Given the description of an element on the screen output the (x, y) to click on. 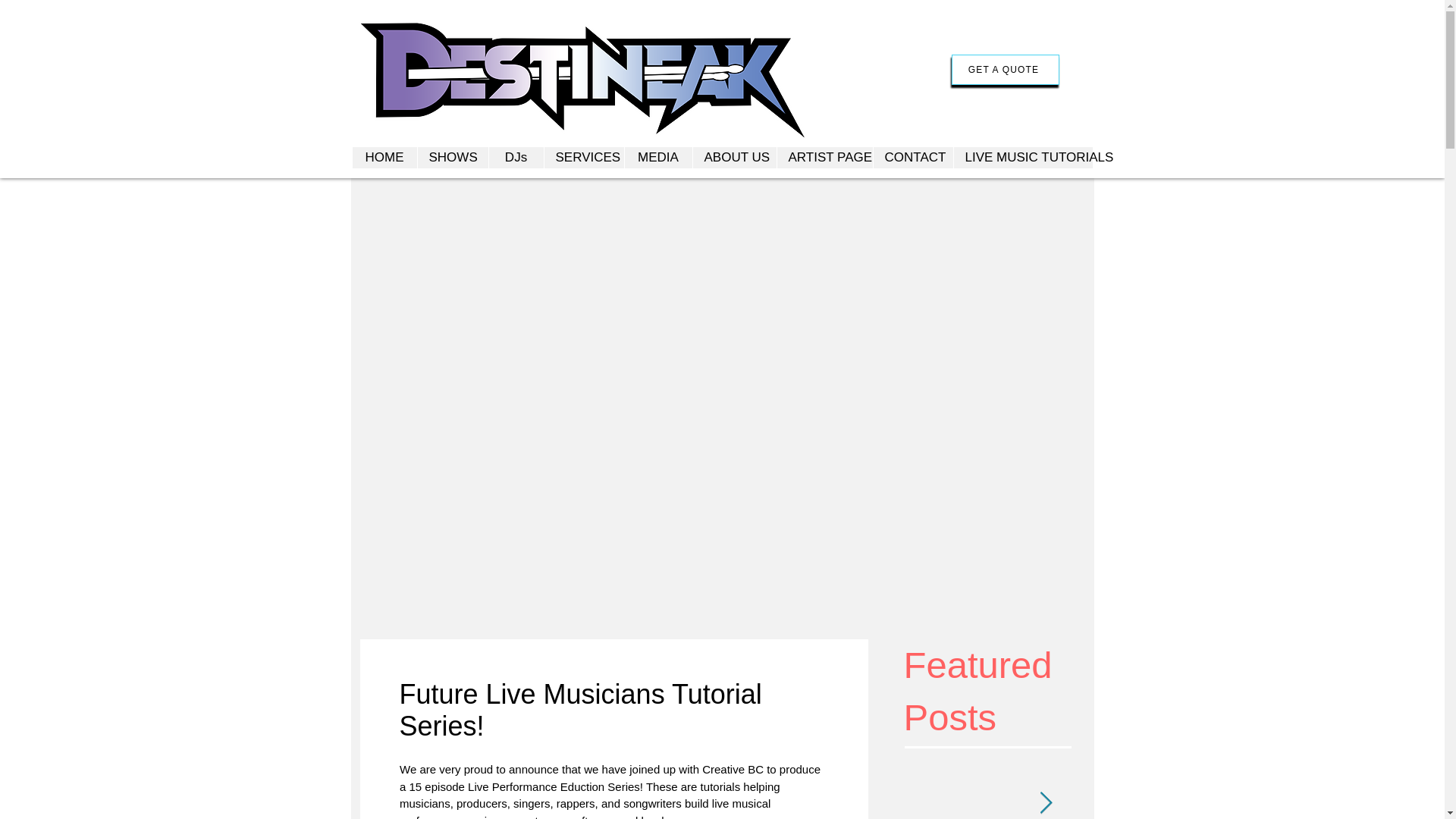
LIVE MUSIC TUTORIALS (1022, 157)
DJs (515, 157)
HOME (384, 157)
SERVICES (583, 157)
CONTACT (912, 157)
GET A QUOTE (1004, 69)
ABOUT US (733, 157)
